Given the description of an element on the screen output the (x, y) to click on. 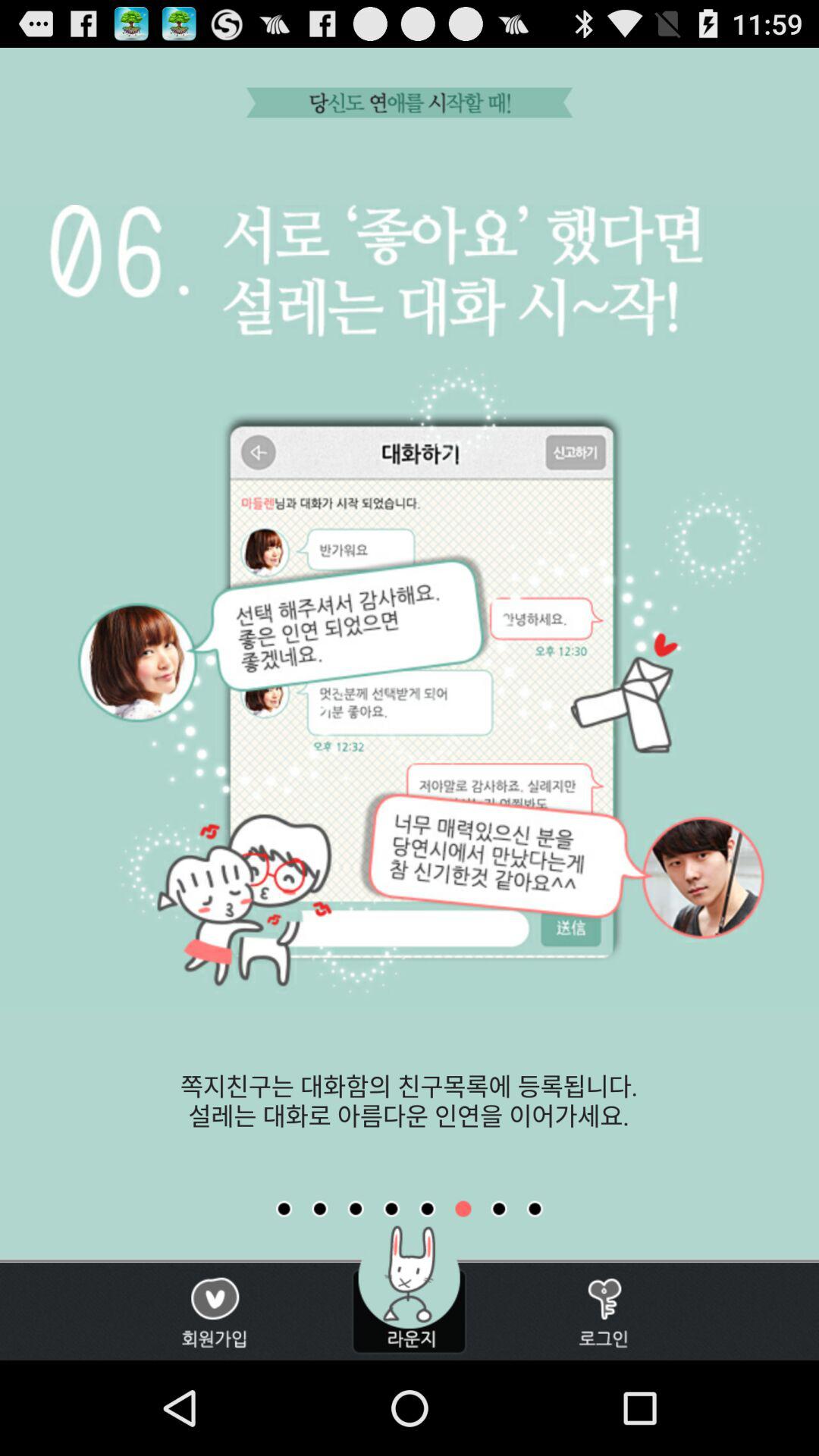
watch previous tutorial page (427, 1208)
